Given the description of an element on the screen output the (x, y) to click on. 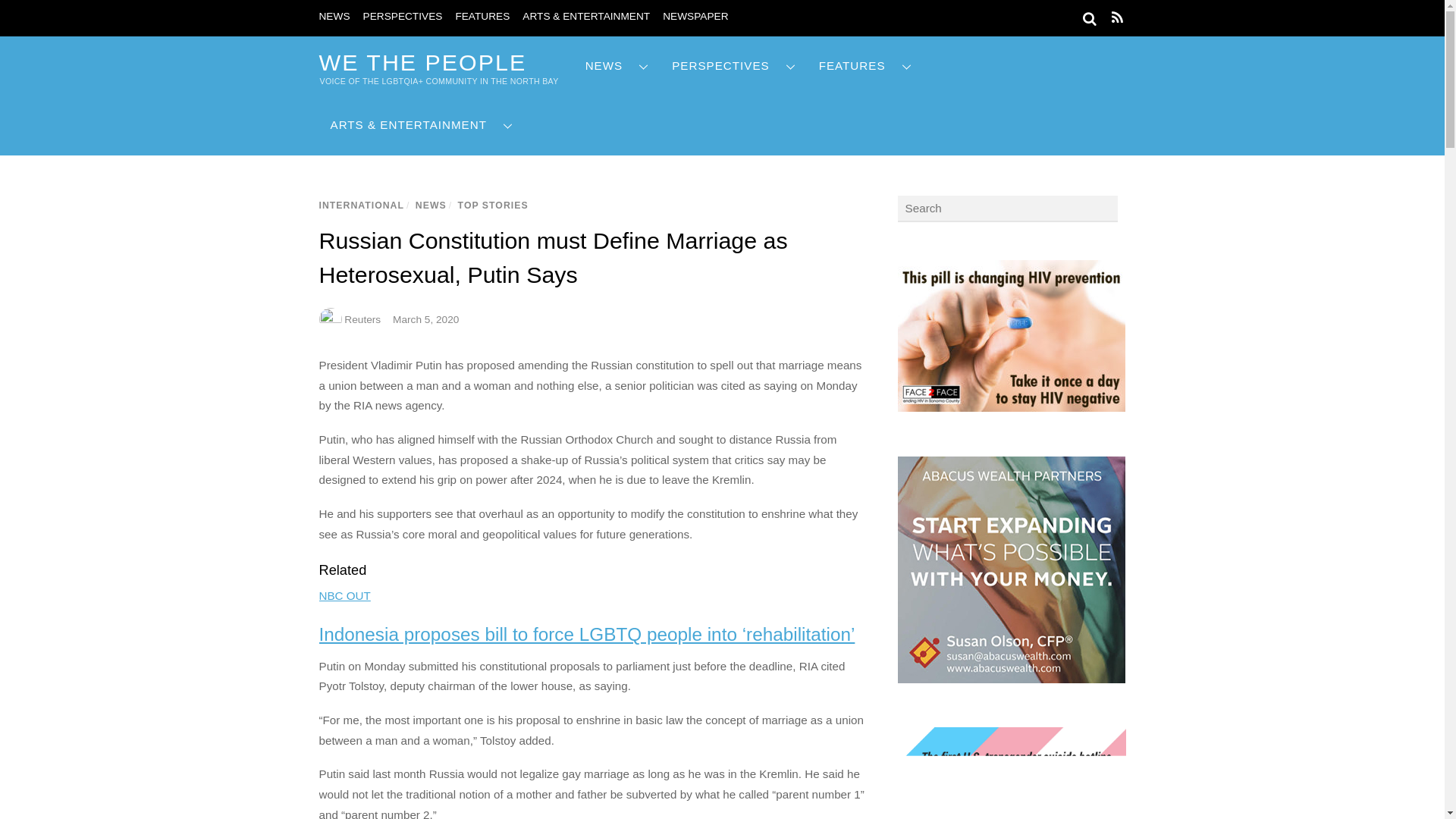
PERSPECTIVES (402, 16)
NEWS (617, 66)
WE THE PEOPLE (421, 62)
FEATURES (481, 16)
We The People (421, 62)
NEWS (333, 16)
NEWSPAPER (695, 16)
